Given the description of an element on the screen output the (x, y) to click on. 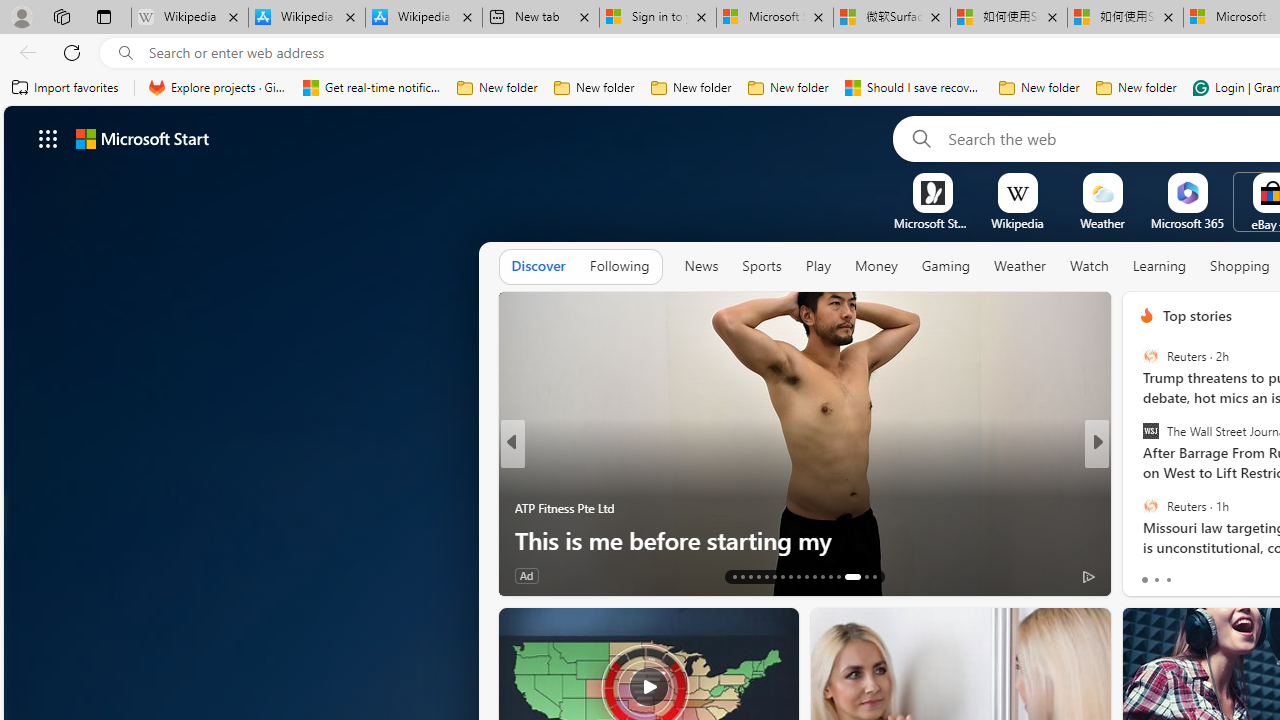
AutomationID: tab-27 (846, 576)
AutomationID: tab-20 (789, 576)
How to Enable and Disable the Windows Key (804, 539)
AutomationID: tab-14 (742, 576)
AutomationID: tab-18 (774, 576)
Reuters (1149, 505)
